Given the description of an element on the screen output the (x, y) to click on. 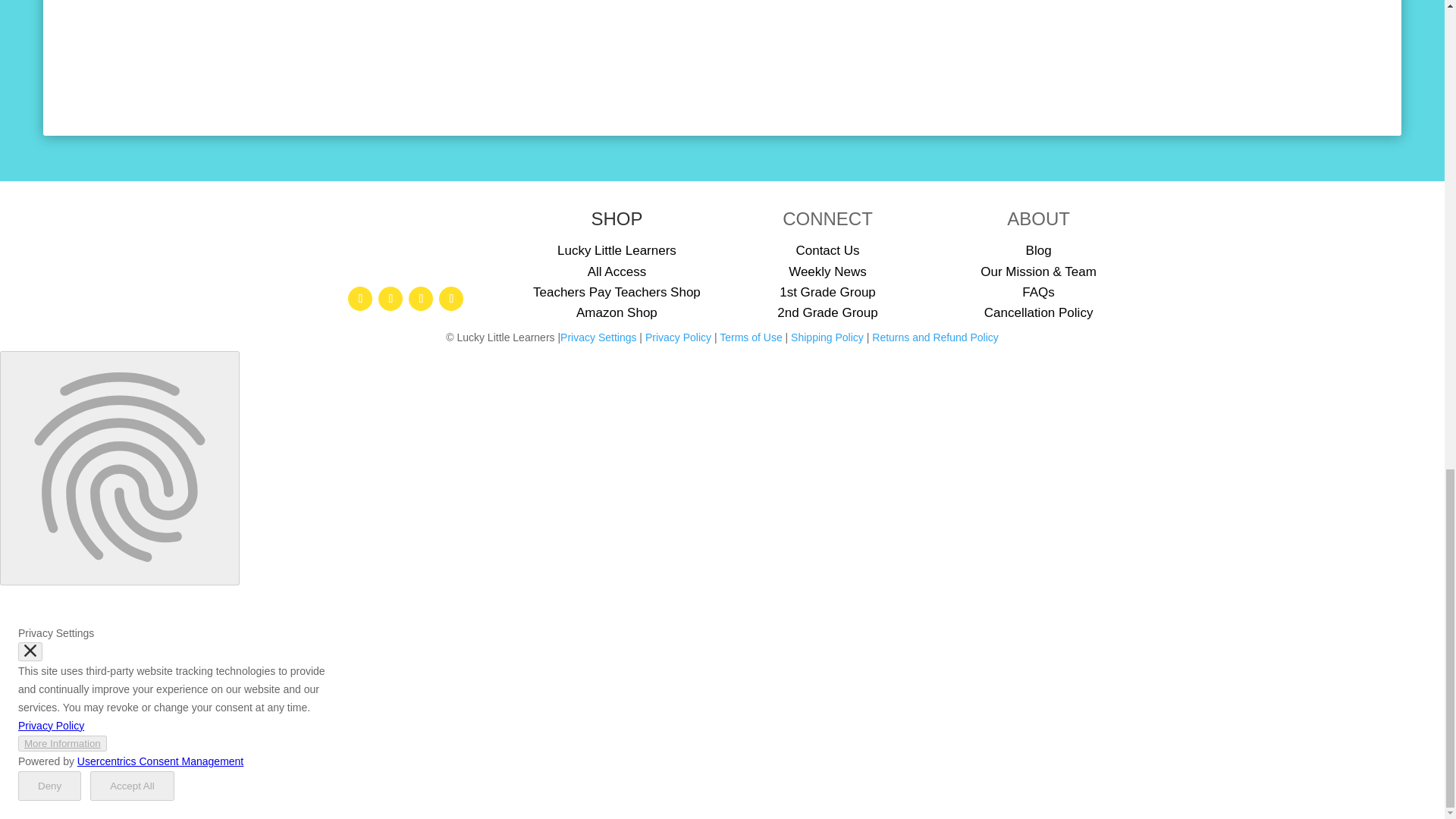
Follow on Instagram (390, 298)
Follow on Facebook (359, 298)
Follow on Youtube (451, 298)
all access membership library logo (405, 241)
Follow on Pinterest (420, 298)
